Given the description of an element on the screen output the (x, y) to click on. 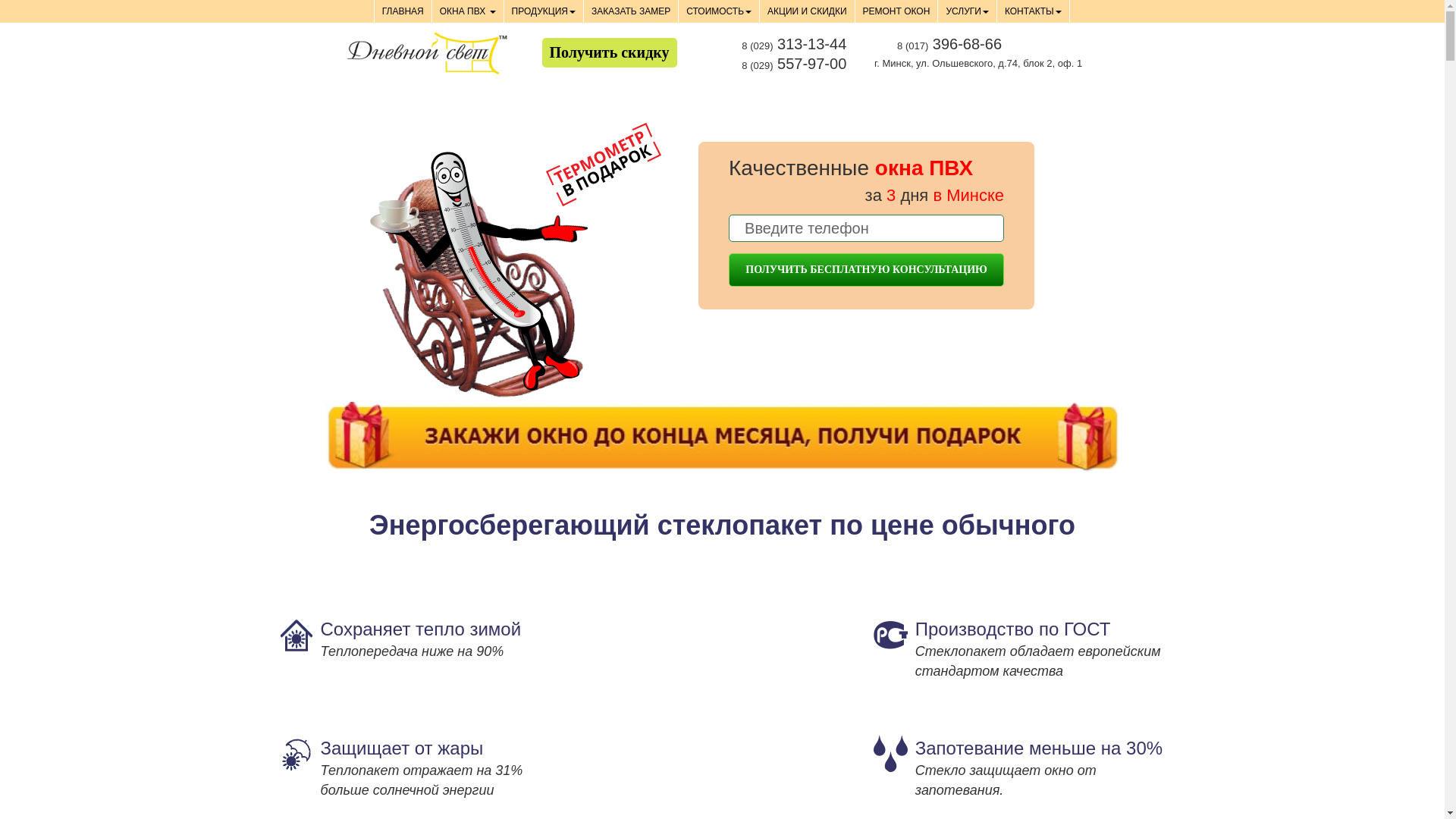
8 (017) 396-68-66 Element type: text (949, 43)
8 (029) 557-97-00 Element type: text (793, 63)
8 (029) 313-13-44 Element type: text (793, 43)
